Given the description of an element on the screen output the (x, y) to click on. 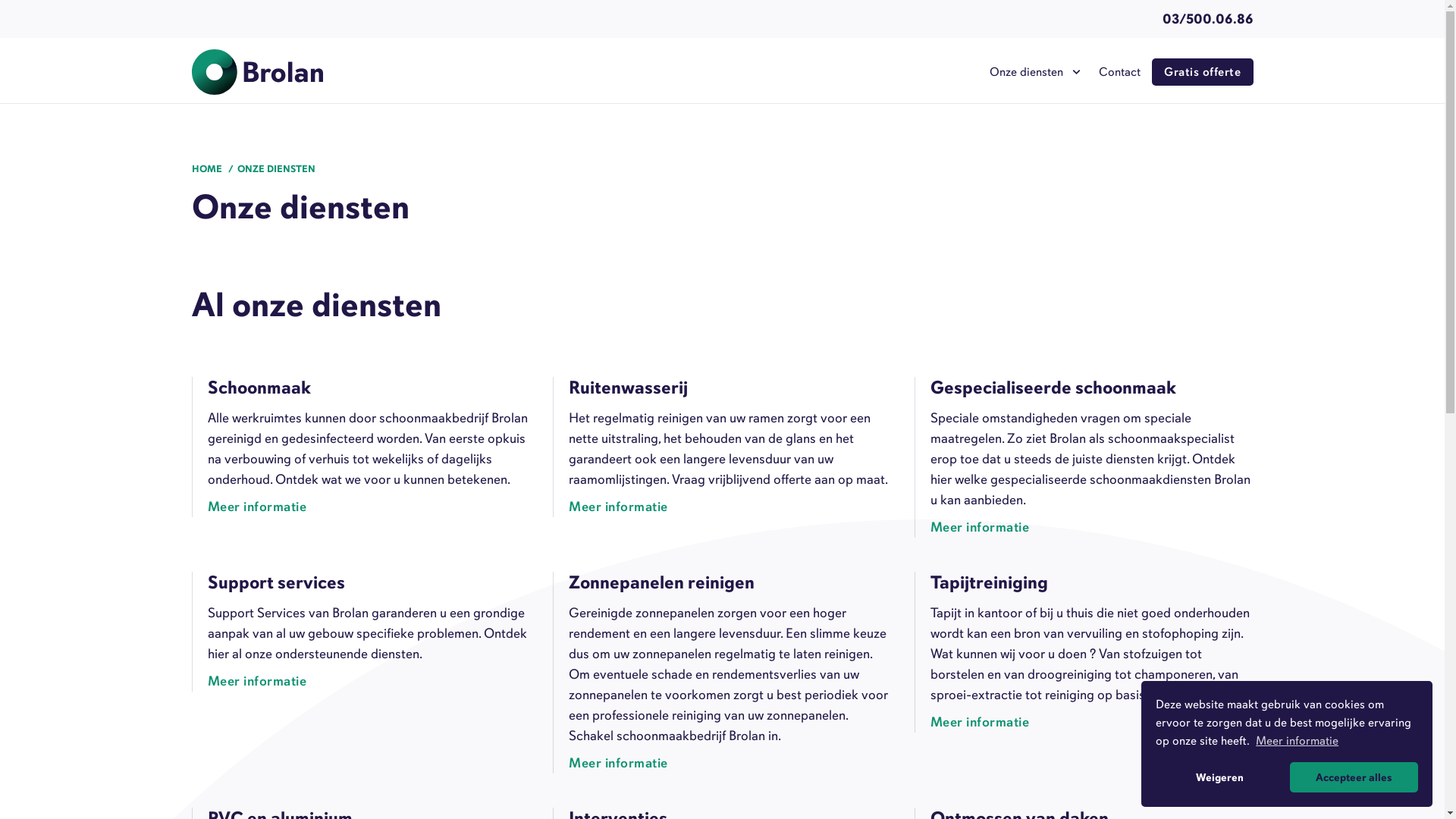
Meer informatie Element type: text (984, 528)
Meer informatie Element type: text (261, 682)
Weigeren Element type: text (1219, 777)
Meer informatie Element type: text (622, 764)
Meer informatie Element type: text (984, 723)
Onze diensten Element type: text (1032, 71)
HOME Element type: text (213, 169)
Meer informatie Element type: text (261, 507)
Meer informatie Element type: text (622, 507)
Accepteer alles Element type: text (1353, 777)
Meer informatie Element type: text (1296, 740)
03/500.06.86 Element type: text (1206, 18)
Gratis offerte Element type: text (1201, 71)
Contact Element type: text (1119, 71)
